Given the description of an element on the screen output the (x, y) to click on. 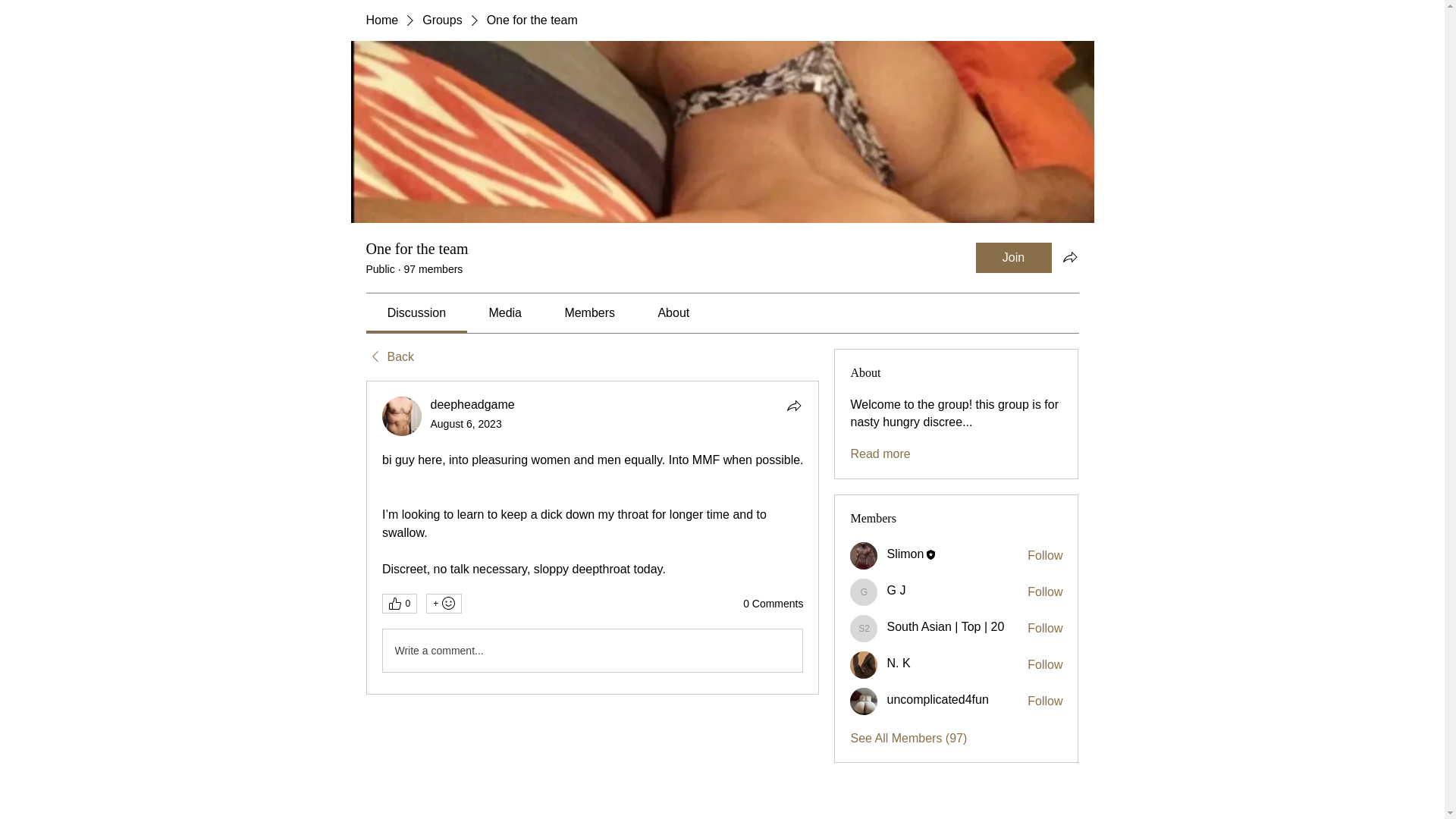
Join (1013, 257)
G J (895, 590)
Follow (1044, 555)
Write a comment... (591, 650)
August 6, 2023 (466, 423)
Back (389, 356)
Slimon (904, 553)
Groups (441, 20)
N. K (863, 664)
Slimon (863, 555)
deepheadgame (472, 404)
deepheadgame (401, 415)
0 Comments (772, 604)
